Given the description of an element on the screen output the (x, y) to click on. 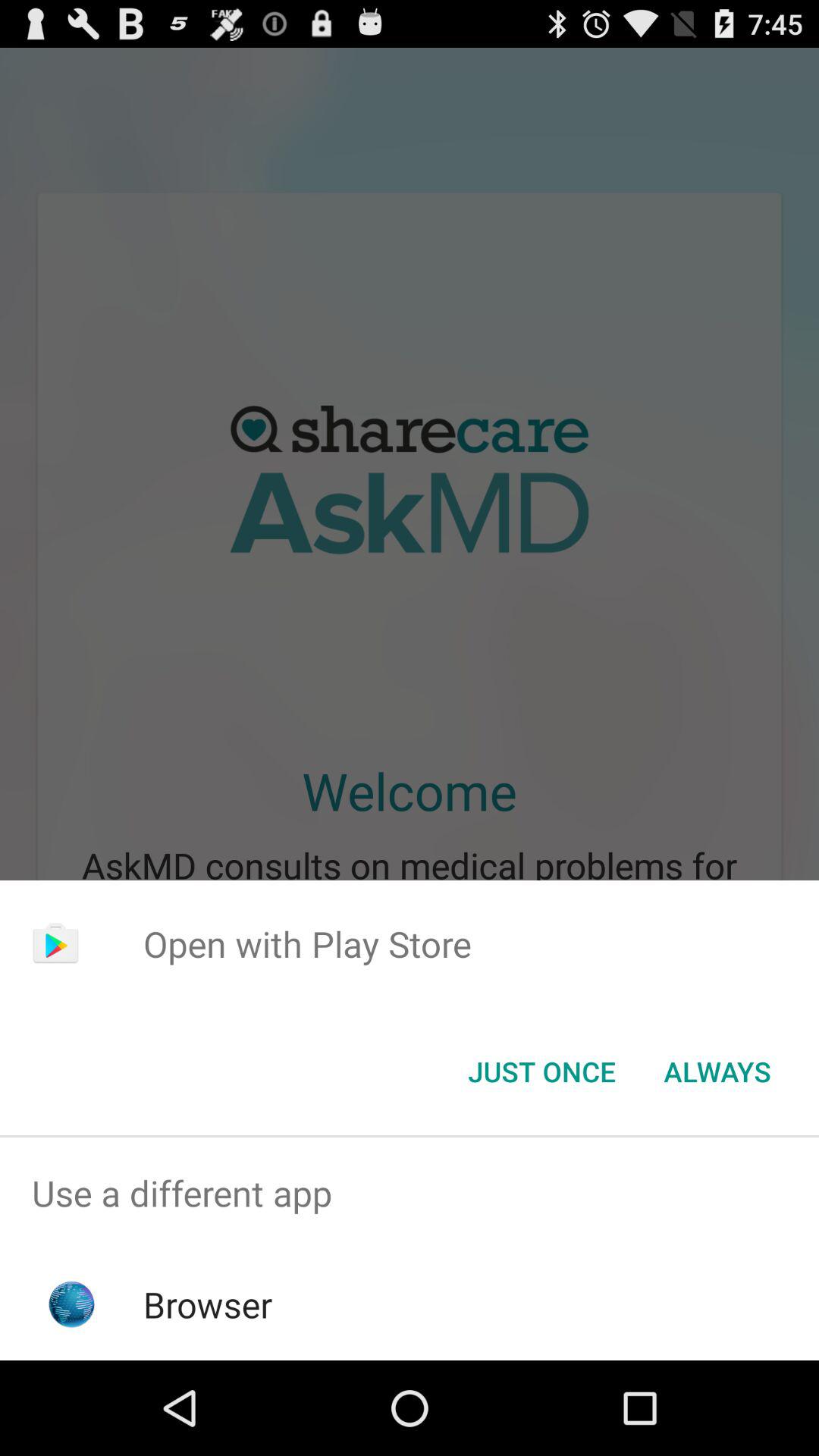
tap the icon above the browser icon (409, 1192)
